Given the description of an element on the screen output the (x, y) to click on. 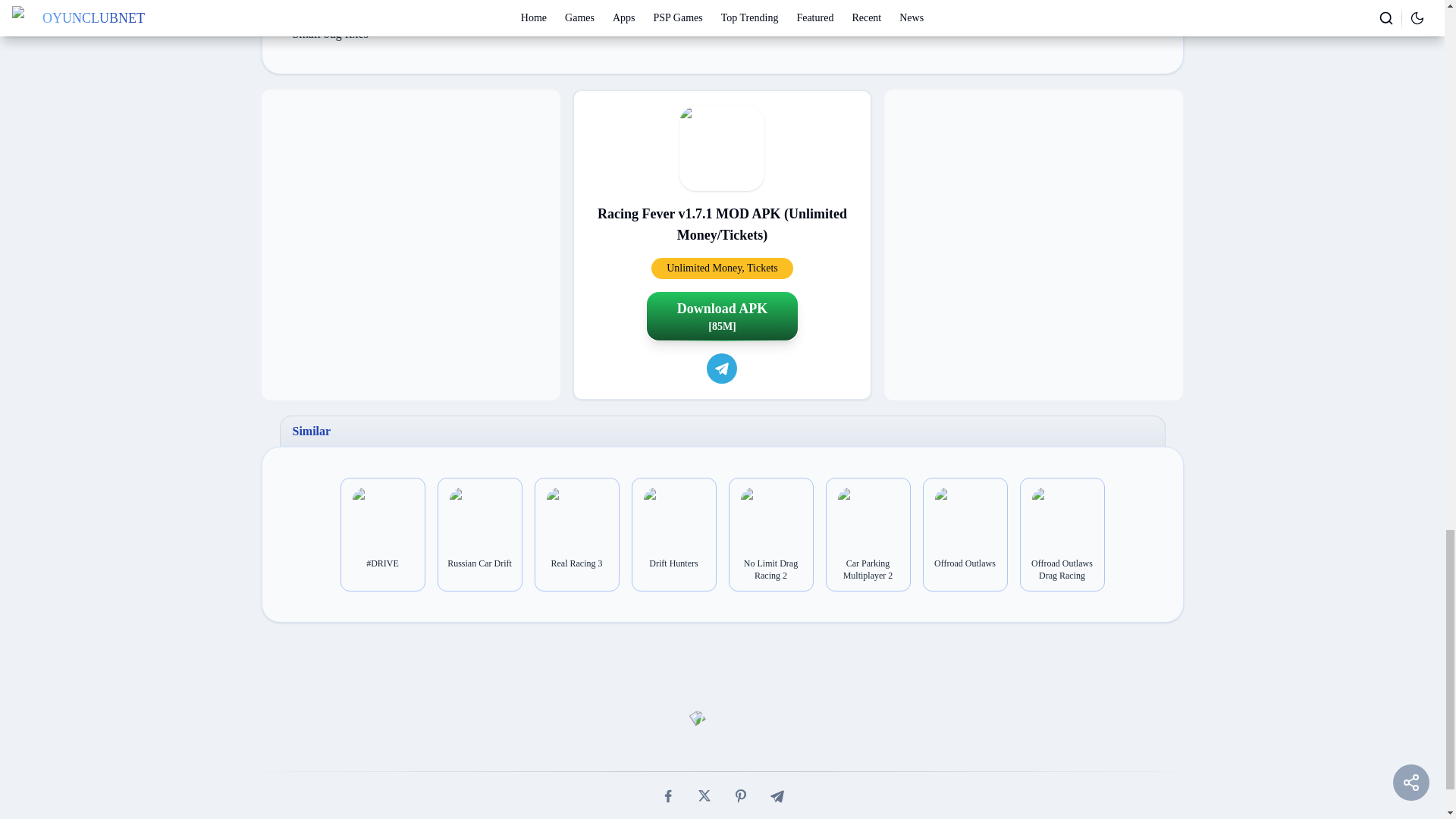
Offroad Outlaws (965, 563)
Real Racing 3 (577, 563)
Russian Car Drift (479, 563)
Offroad Outlaws Drag Racing (1061, 569)
No Limit Drag Racing 2 (770, 569)
Car Parking Multiplayer 2 (868, 569)
oyunclubnet.com on Telegram (721, 368)
Drift Hunters (674, 563)
